Given the description of an element on the screen output the (x, y) to click on. 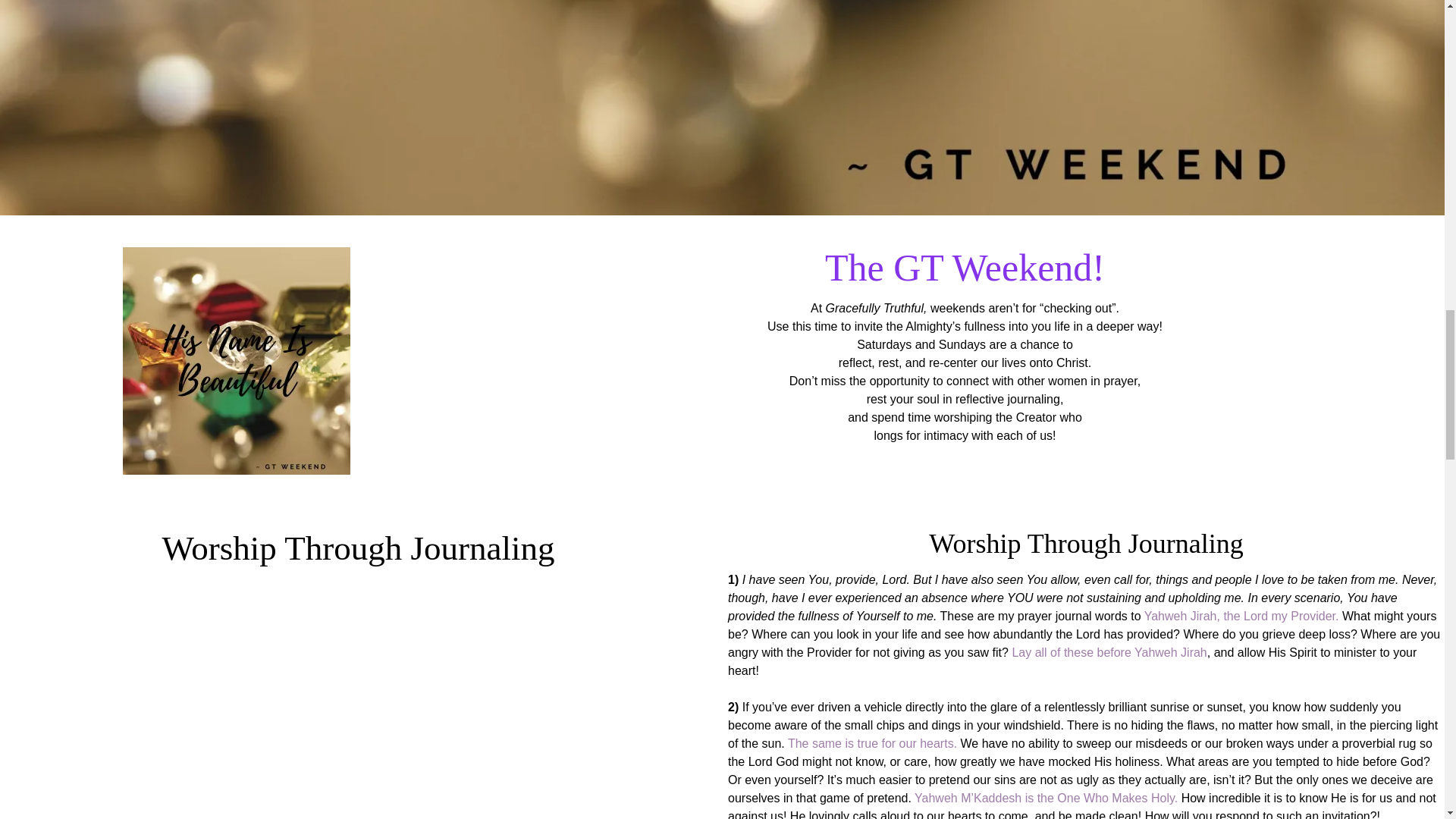
Lay all of these before Yahweh Jirah (1109, 652)
Yahweh Jirah, the Lord my Provider. (1241, 615)
GT Weekend He Week 2 (236, 361)
The same is true for our hearts. (871, 743)
